Given the description of an element on the screen output the (x, y) to click on. 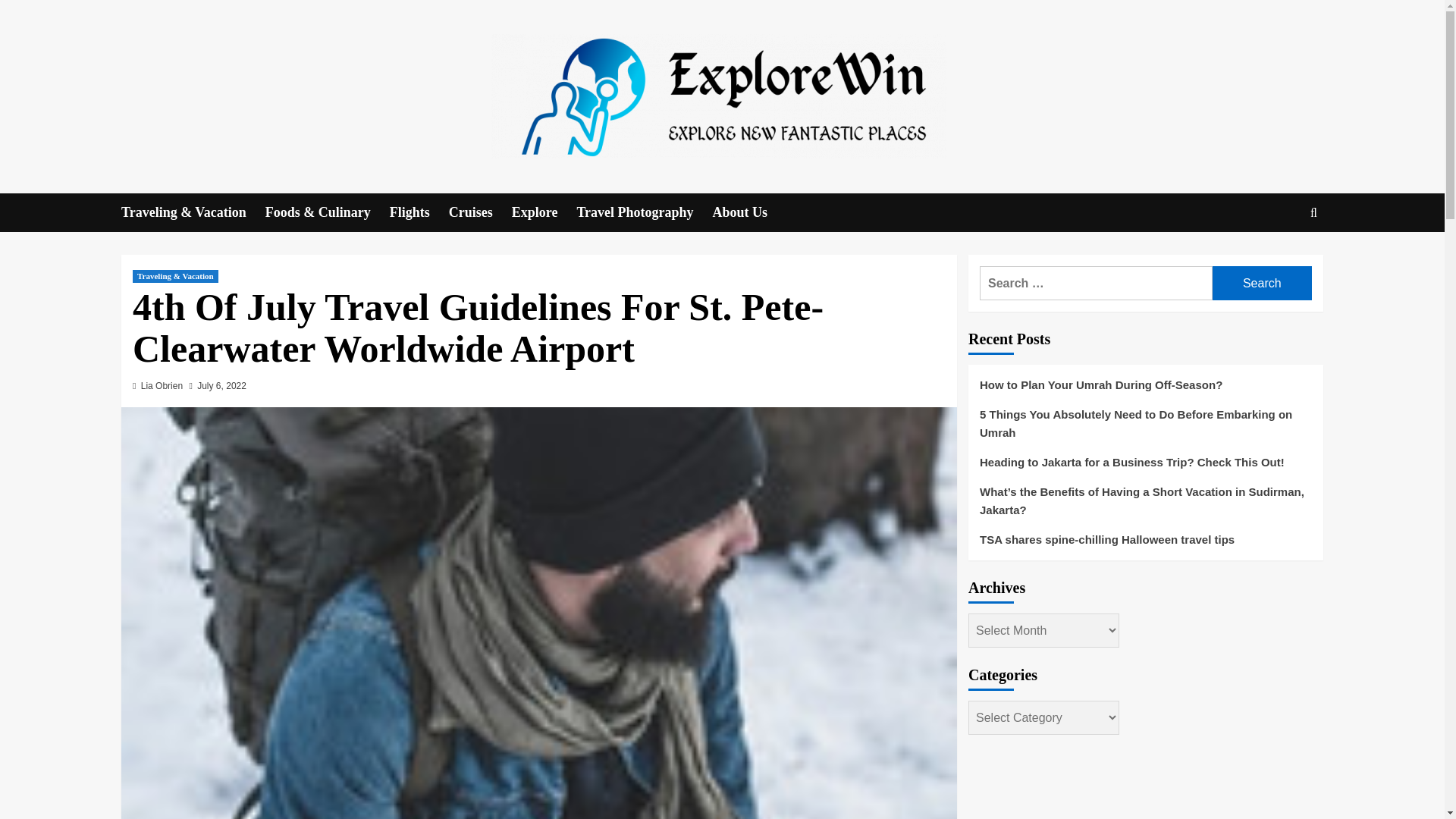
July 6, 2022 (221, 385)
Search (1261, 283)
Travel Photography (643, 212)
Search (1261, 283)
About Us (750, 212)
Lia Obrien (162, 385)
Explore (544, 212)
Cruises (480, 212)
Flights (419, 212)
Search (1278, 259)
